Given the description of an element on the screen output the (x, y) to click on. 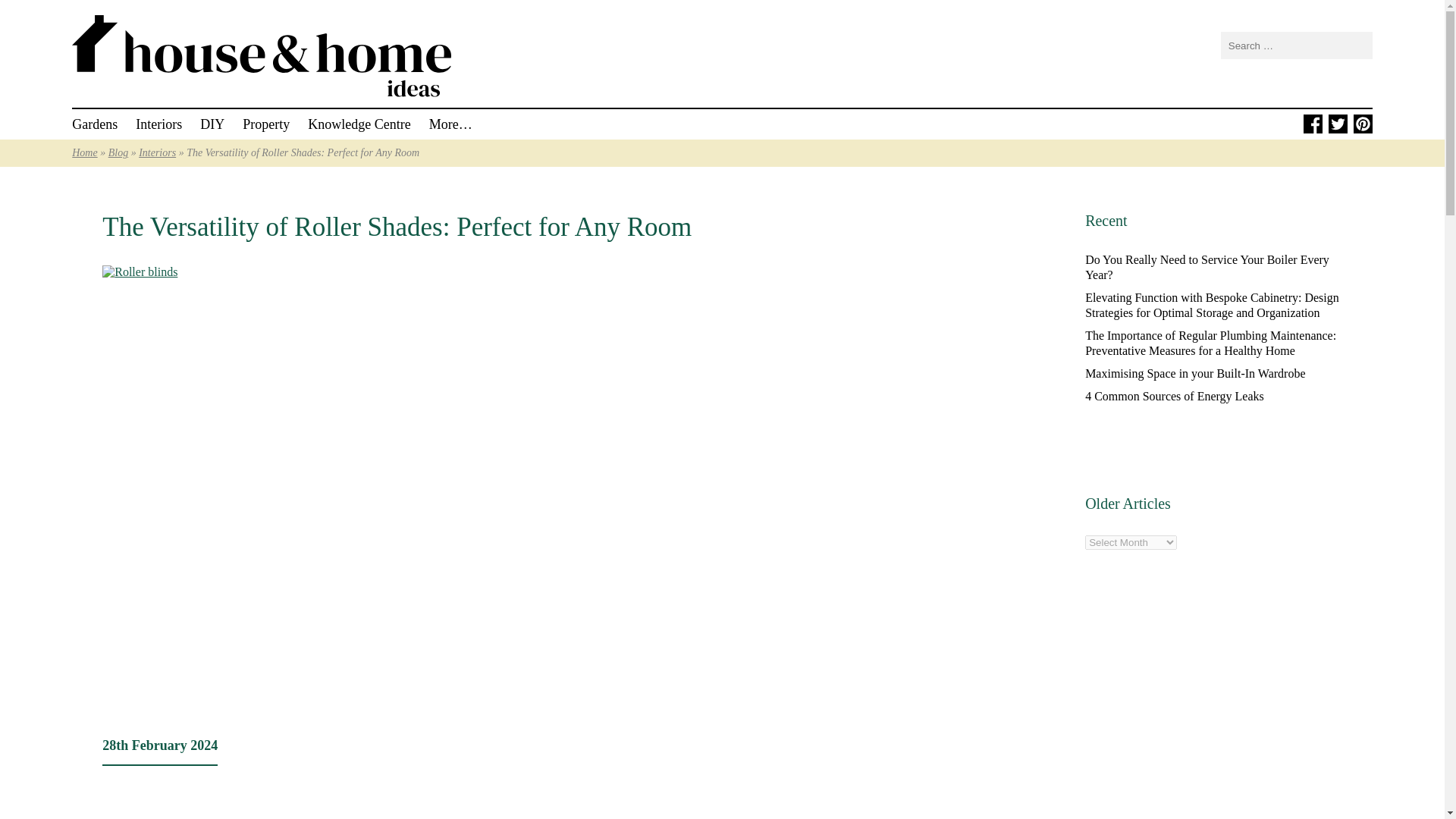
The Versatility of Roller Shades: Perfect for Any Room (396, 226)
DIY (212, 124)
Do You Really Need to Service Your Boiler Every Year? (1206, 267)
The Versatility of Roller Shades: Perfect for Any Room (396, 226)
Gardens (94, 124)
Maximising Space in your Built-In Wardrobe (1194, 373)
Knowledge Centre (358, 124)
Home (84, 152)
Property (266, 124)
Interiors (157, 152)
Blog (117, 152)
Interiors (158, 124)
